Given the description of an element on the screen output the (x, y) to click on. 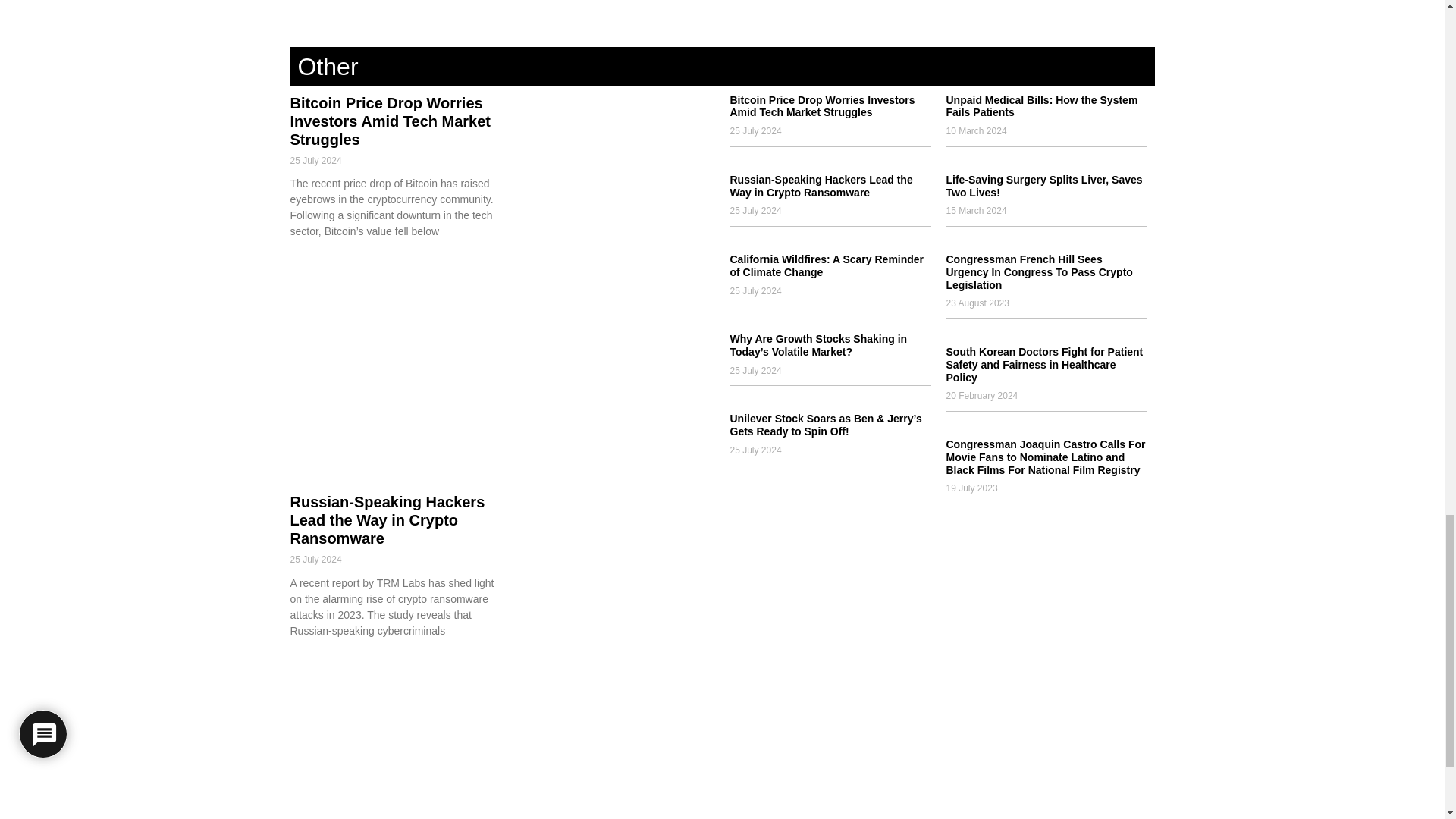
Russian-Speaking Hackers Lead the Way in Crypto Ransomware (386, 520)
Russian-Speaking Hackers Lead the Way in Crypto Ransomware (820, 186)
